Given the description of an element on the screen output the (x, y) to click on. 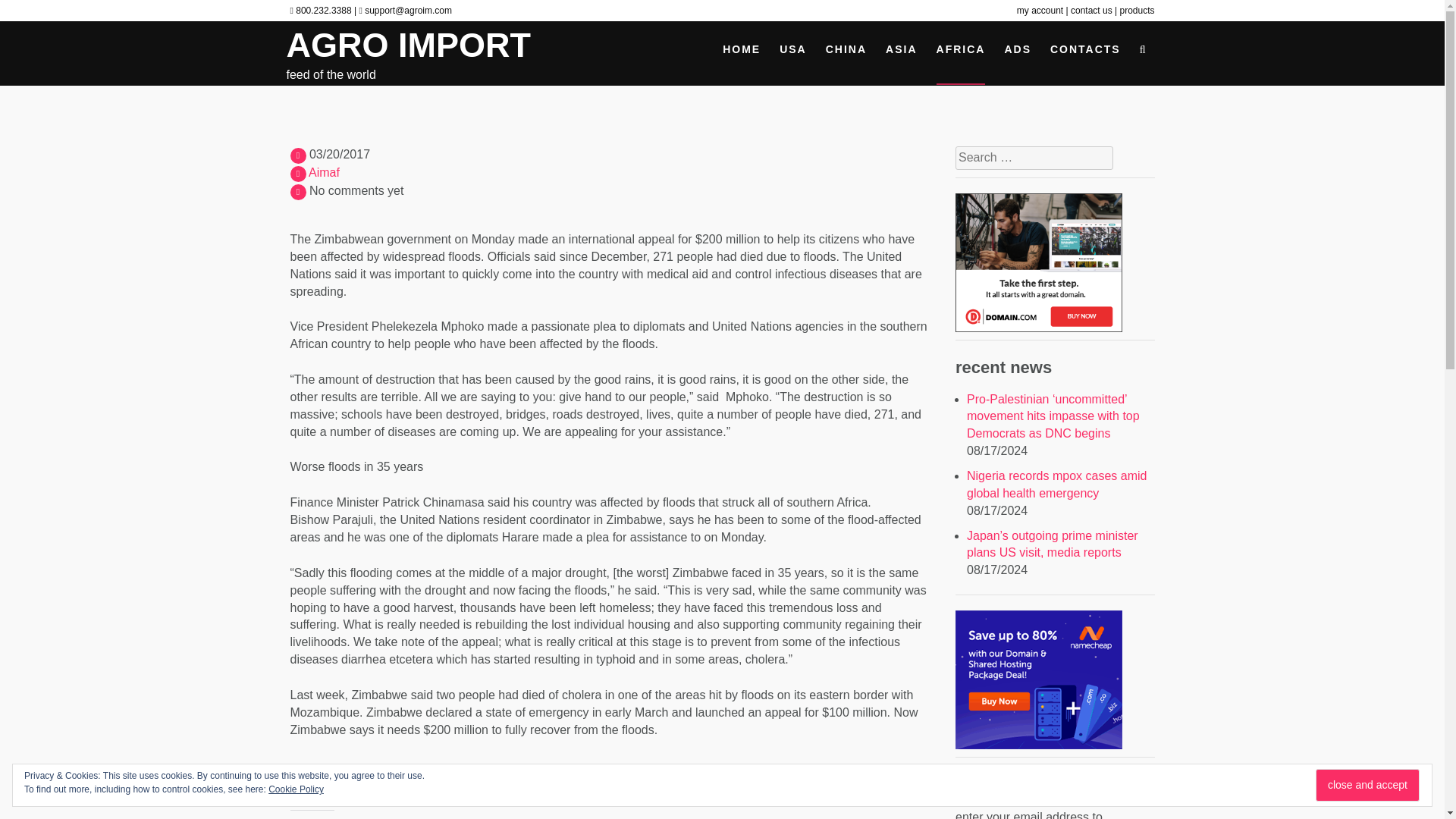
products (1136, 9)
Aimaf (323, 172)
my account (1040, 9)
Posts by Aimaf (323, 172)
AGRO IMPORT (408, 44)
close and accept (1367, 785)
CONTACTS (1085, 53)
contact us (1092, 9)
